Given the description of an element on the screen output the (x, y) to click on. 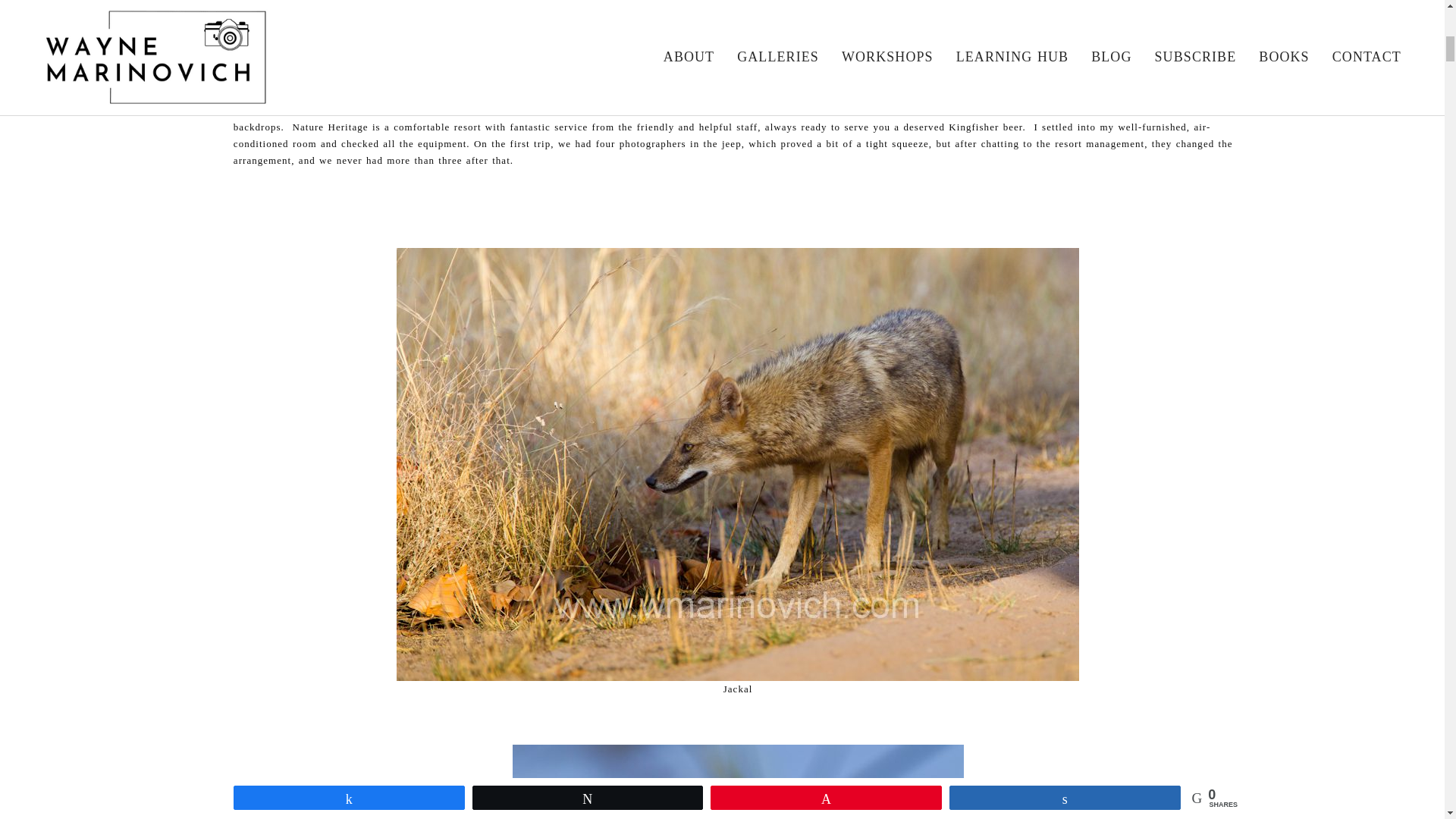
Wildlife Trails UK (279, 109)
Nature Heritage Resort (960, 92)
